Given the description of an element on the screen output the (x, y) to click on. 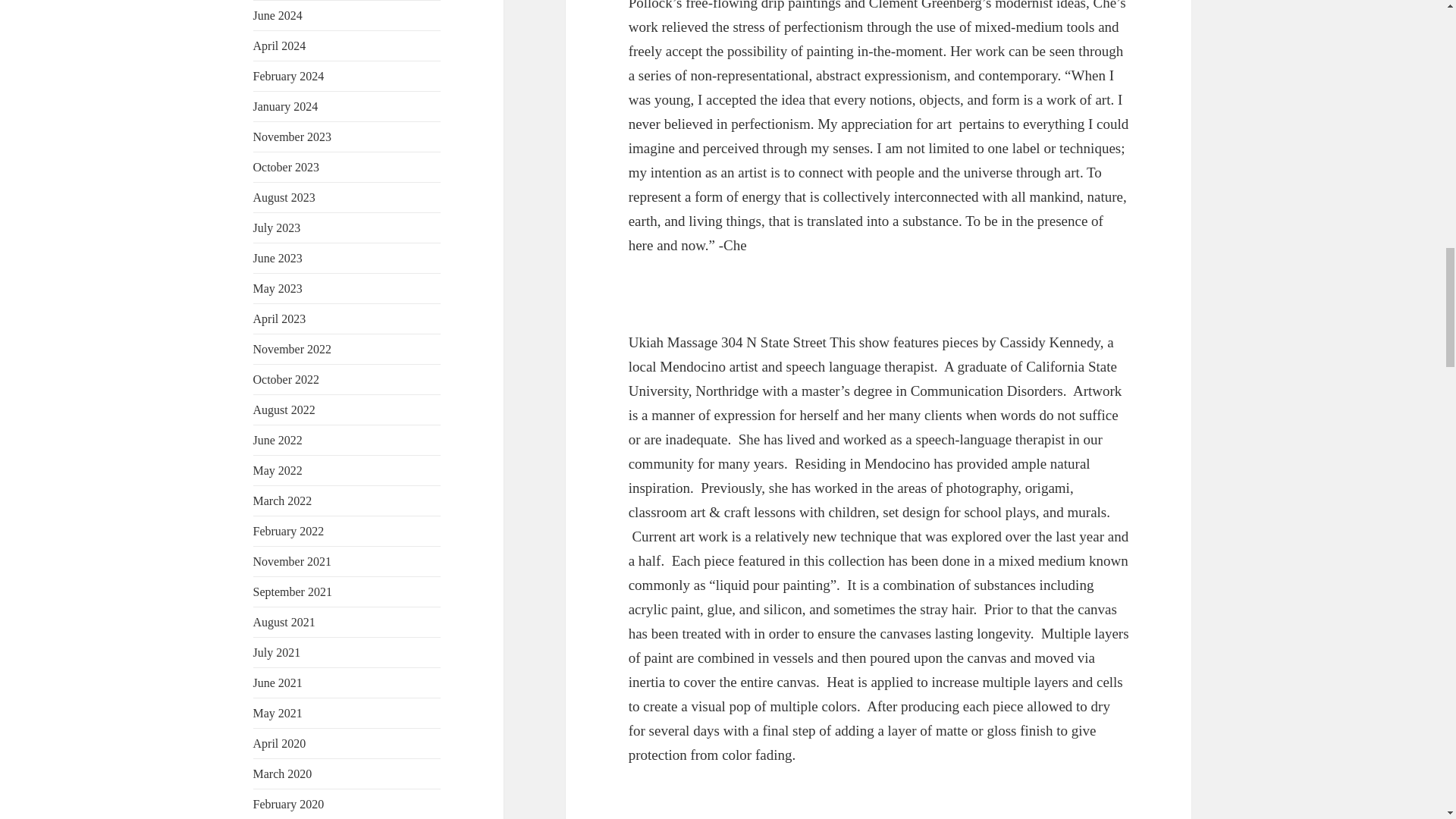
November 2023 (292, 136)
June 2023 (277, 257)
February 2024 (288, 75)
April 2020 (279, 743)
May 2023 (277, 287)
July 2021 (277, 652)
August 2021 (284, 621)
April 2024 (279, 45)
September 2021 (292, 591)
July 2023 (277, 227)
October 2022 (286, 379)
March 2020 (283, 773)
August 2023 (284, 196)
January 2024 (285, 106)
November 2022 (292, 349)
